Given the description of an element on the screen output the (x, y) to click on. 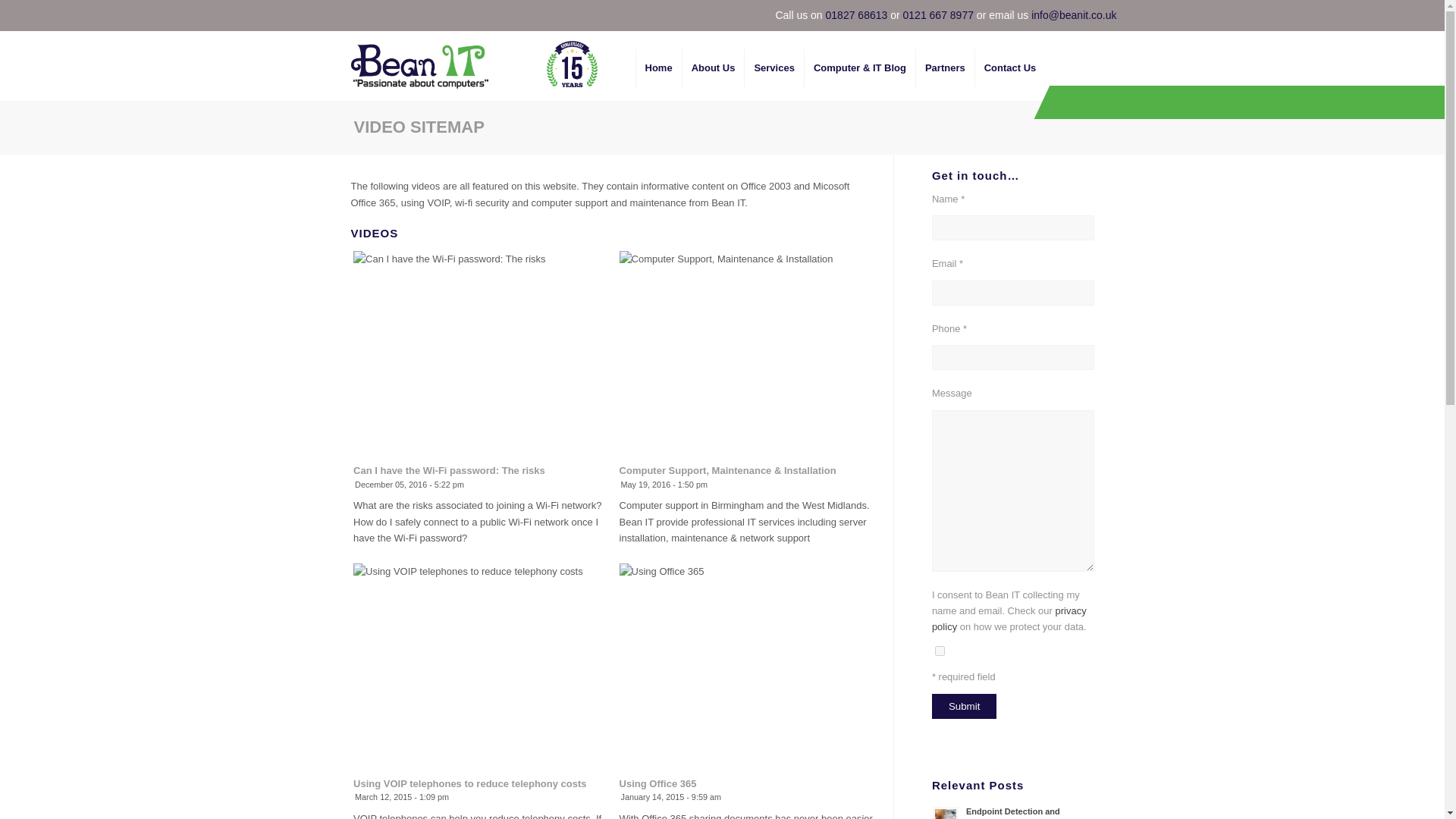
Using Office 365 (658, 783)
Submit (963, 706)
01827 68613 (856, 15)
privacy policy (1008, 618)
Services (773, 67)
Permanent Link: Video Sitemap (418, 126)
0121 667 8977 (938, 15)
or email us (1002, 15)
Can I have the Wi-Fi password: The risks (448, 470)
About Us (712, 67)
